Given the description of an element on the screen output the (x, y) to click on. 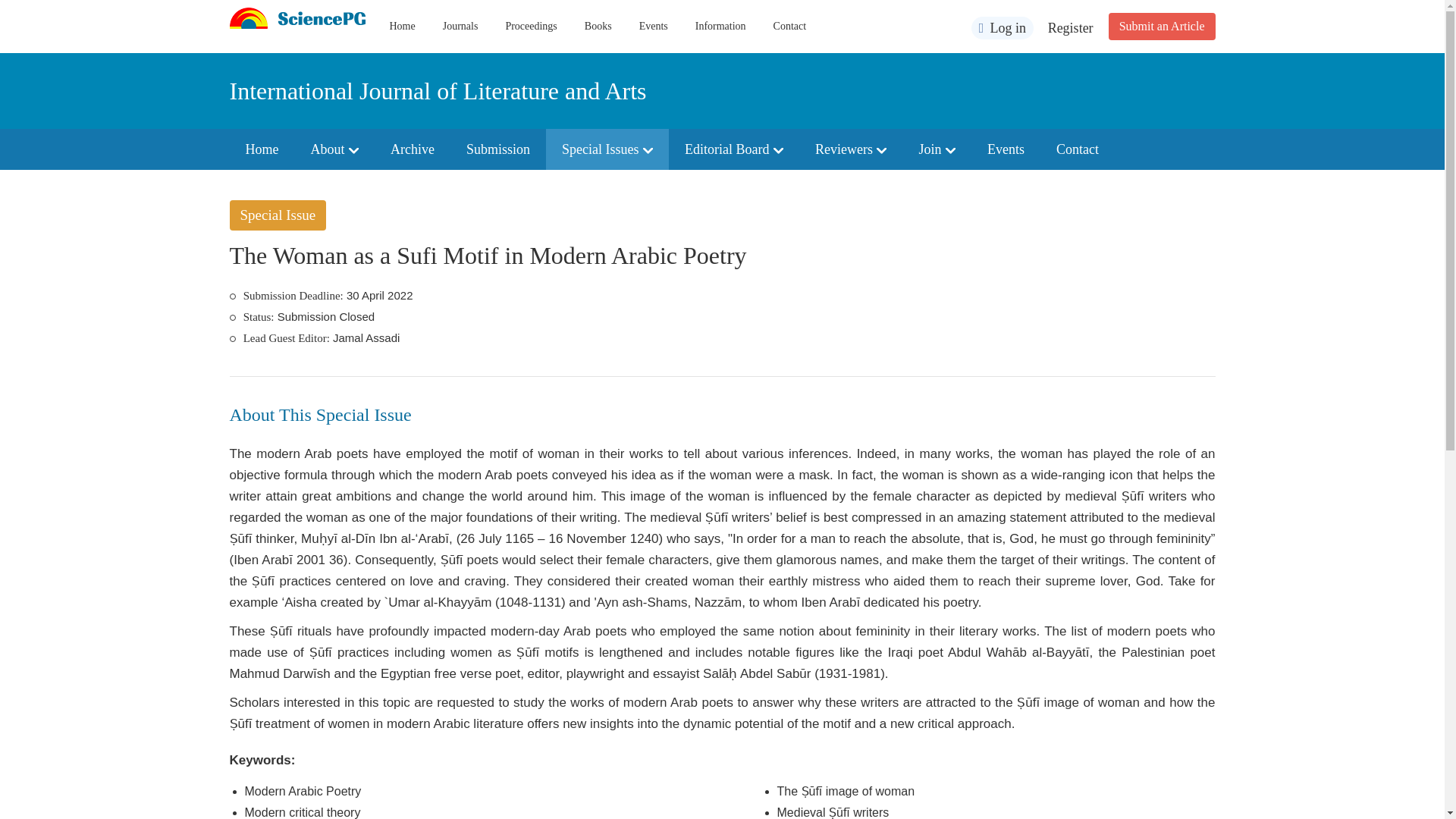
About (334, 148)
Submission (497, 148)
Contact (789, 25)
Submit an Article (1162, 25)
Events (653, 25)
Home (402, 25)
Home (261, 148)
Books (598, 25)
Information (720, 25)
Journals (460, 25)
Archive (411, 148)
Special Issues (607, 148)
Register (1070, 28)
Proceedings (530, 25)
Log in (1002, 27)
